Given the description of an element on the screen output the (x, y) to click on. 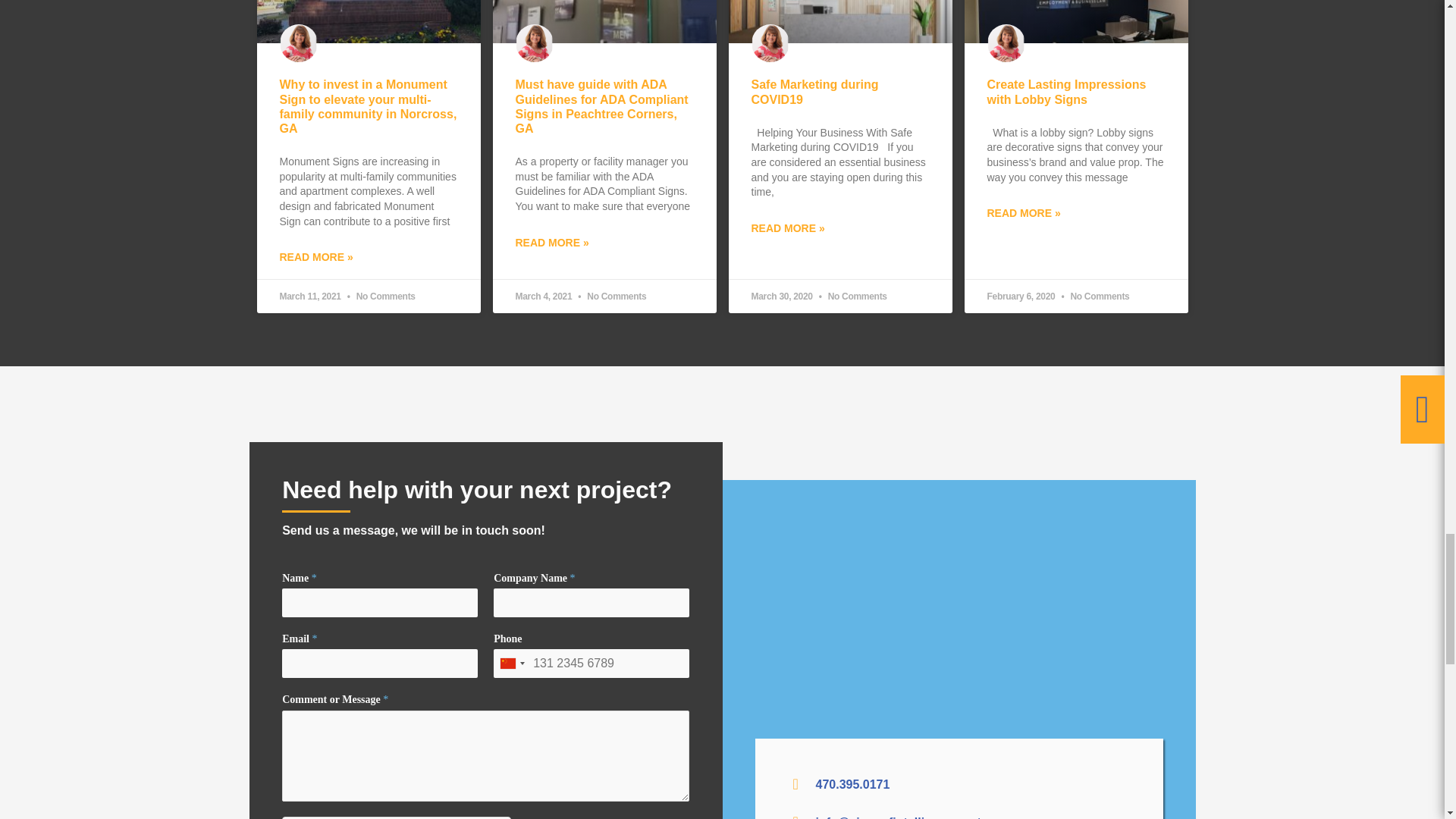
signs of intelligence atlanta (959, 624)
